Given the description of an element on the screen output the (x, y) to click on. 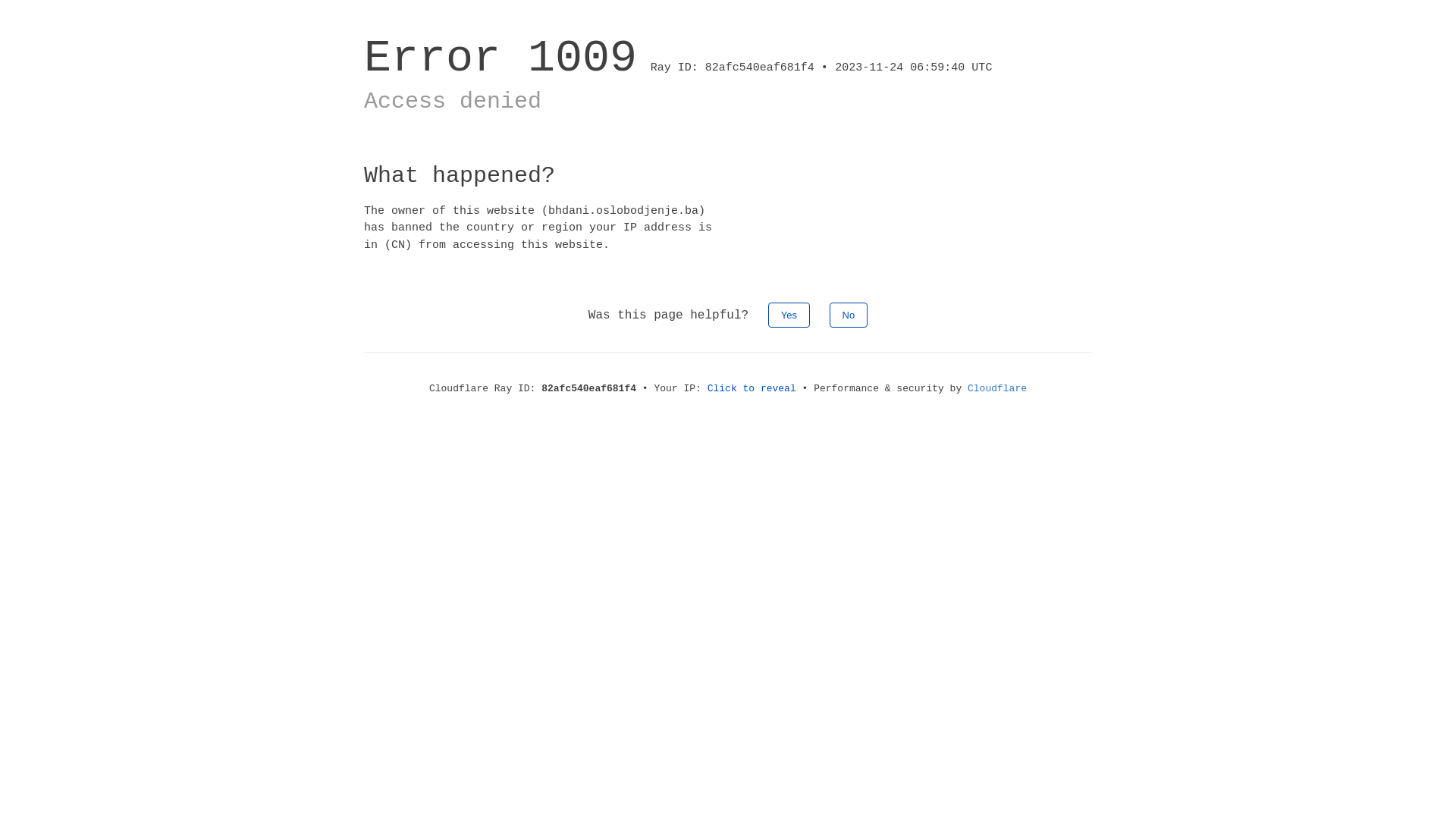
No Element type: text (848, 314)
Cloudflare Element type: text (996, 388)
Yes Element type: text (788, 314)
Click to reveal Element type: text (751, 388)
